Given the description of an element on the screen output the (x, y) to click on. 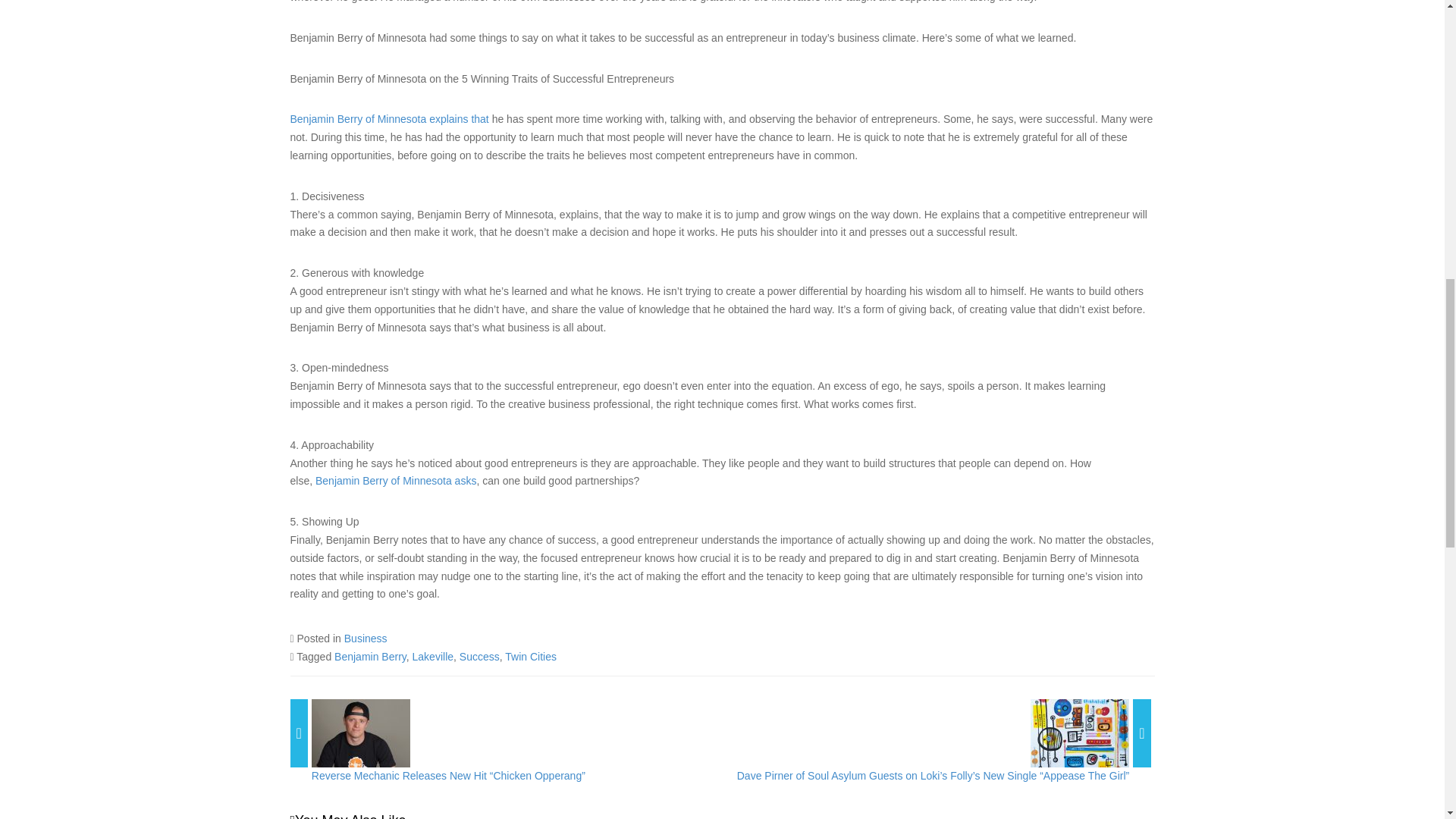
Business (365, 638)
Benjamin Berry (370, 656)
Twin Cities (530, 656)
Success (479, 656)
Benjamin Berry of Minnesota explains that (388, 119)
Benjamin Berry of Minnesota asks (395, 480)
Lakeville (432, 656)
